Given the description of an element on the screen output the (x, y) to click on. 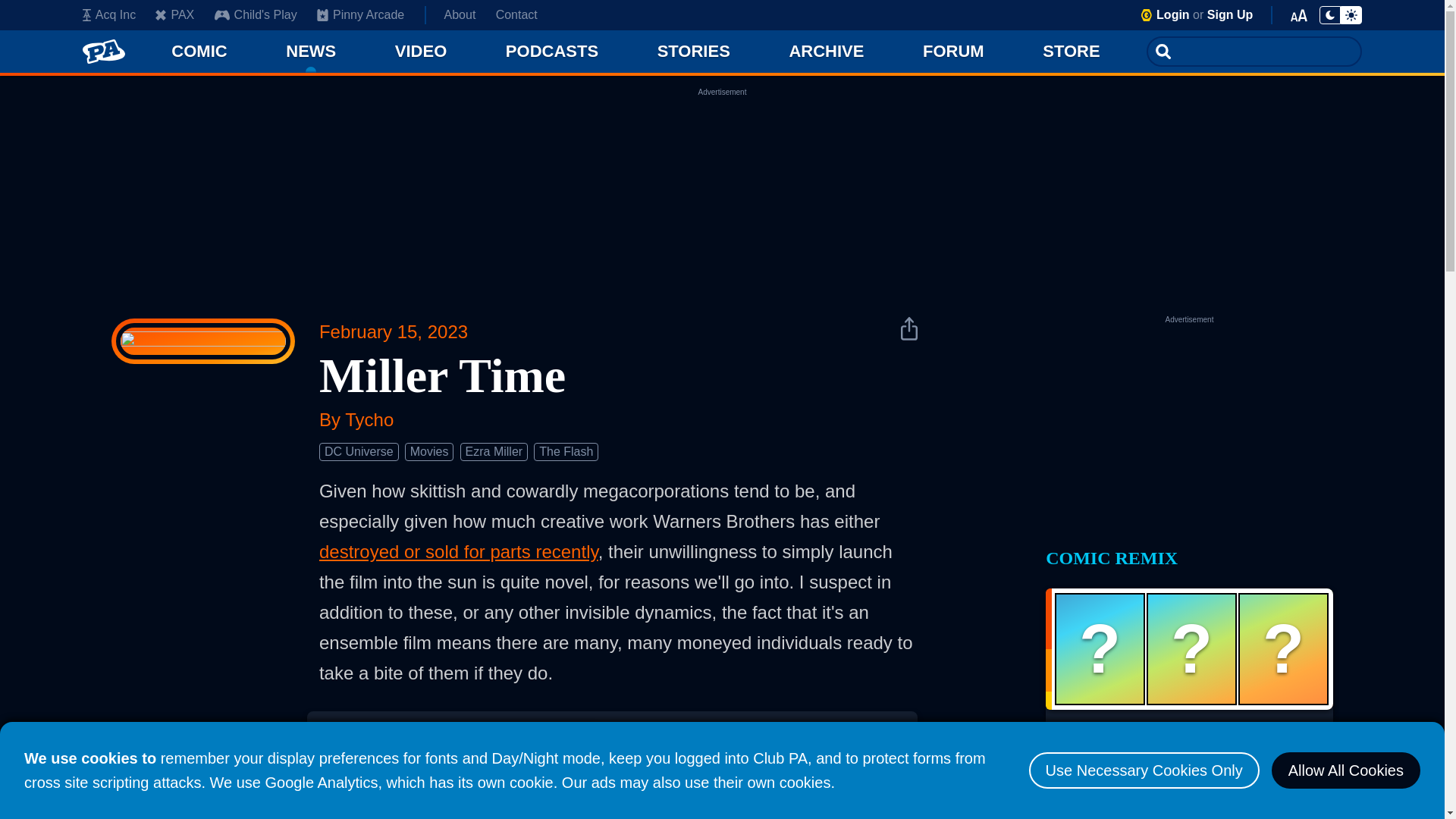
PAX (174, 14)
Login (1172, 14)
About (460, 14)
Pinny Arcade (360, 14)
Contact (516, 14)
Use Necessary Cookies Only (1144, 770)
Acq Inc (108, 14)
Allow All Cookies (1346, 770)
Child's Play (255, 14)
